Given the description of an element on the screen output the (x, y) to click on. 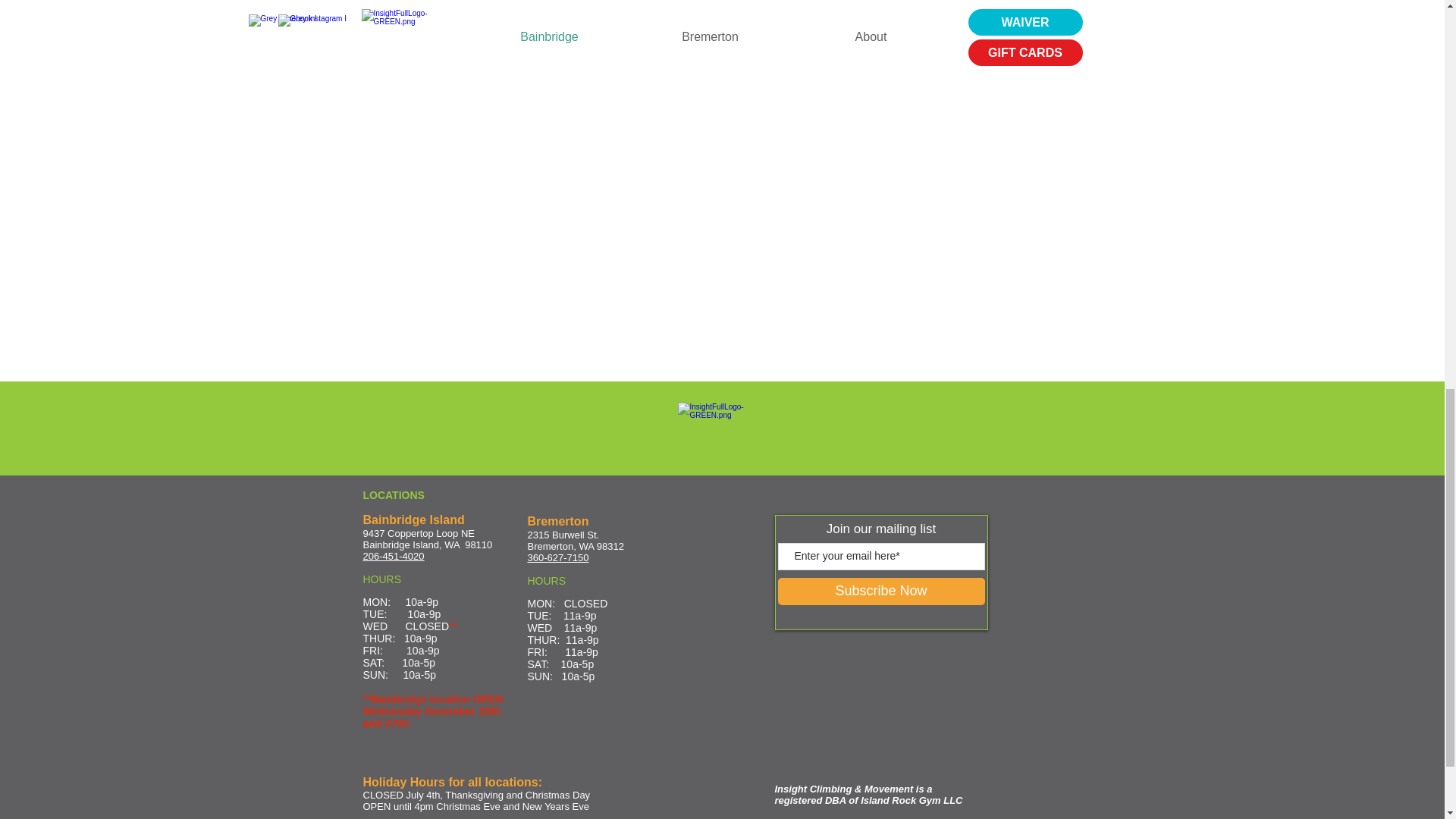
360-627-7150 (558, 557)
206-451-4020 (392, 555)
Subscribe Now (881, 591)
